Given the description of an element on the screen output the (x, y) to click on. 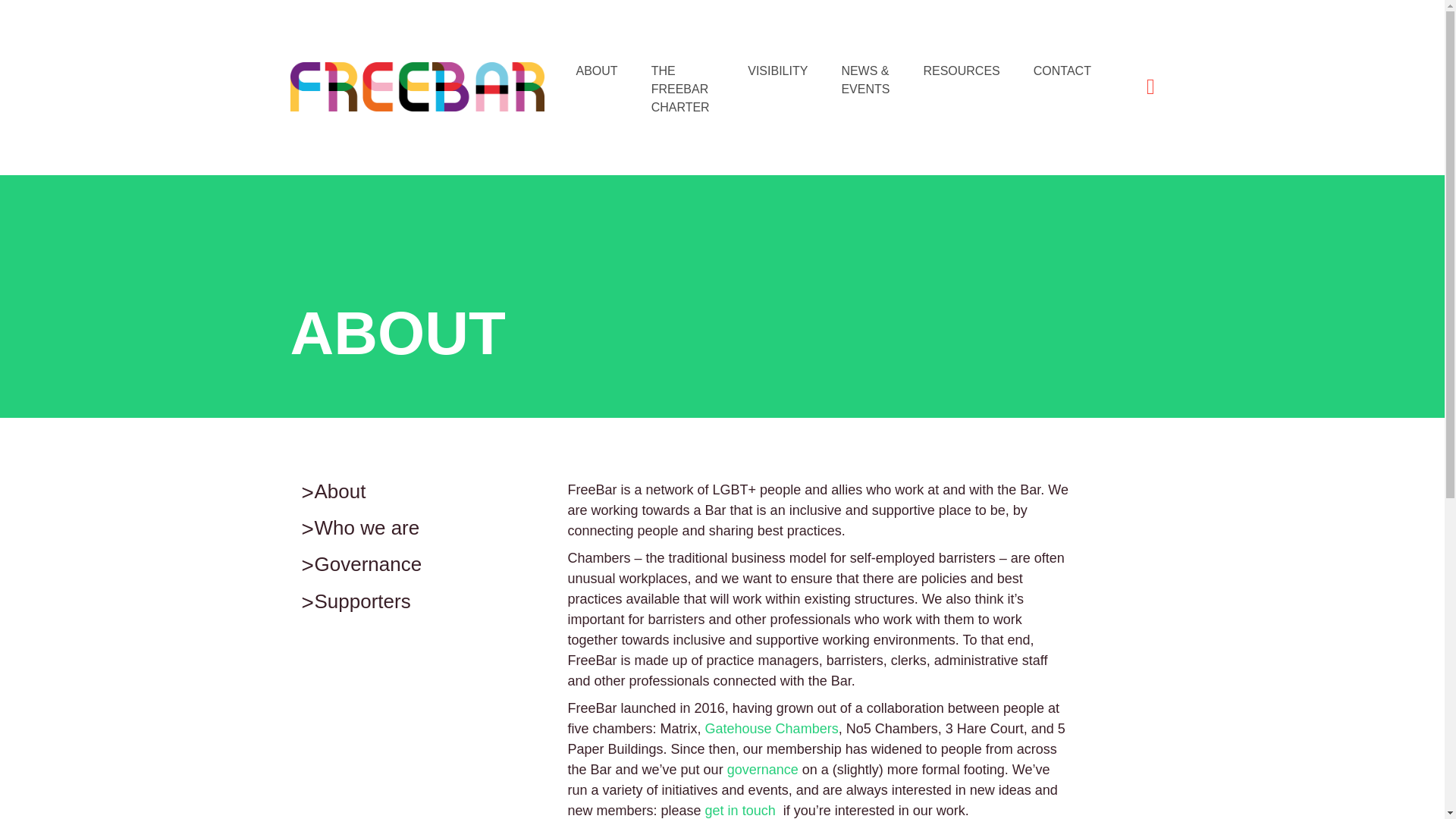
Who we are (366, 527)
governance (761, 769)
get in touch (740, 810)
About (682, 89)
Supporters (960, 71)
Gatehouse Chambers (339, 490)
